Given the description of an element on the screen output the (x, y) to click on. 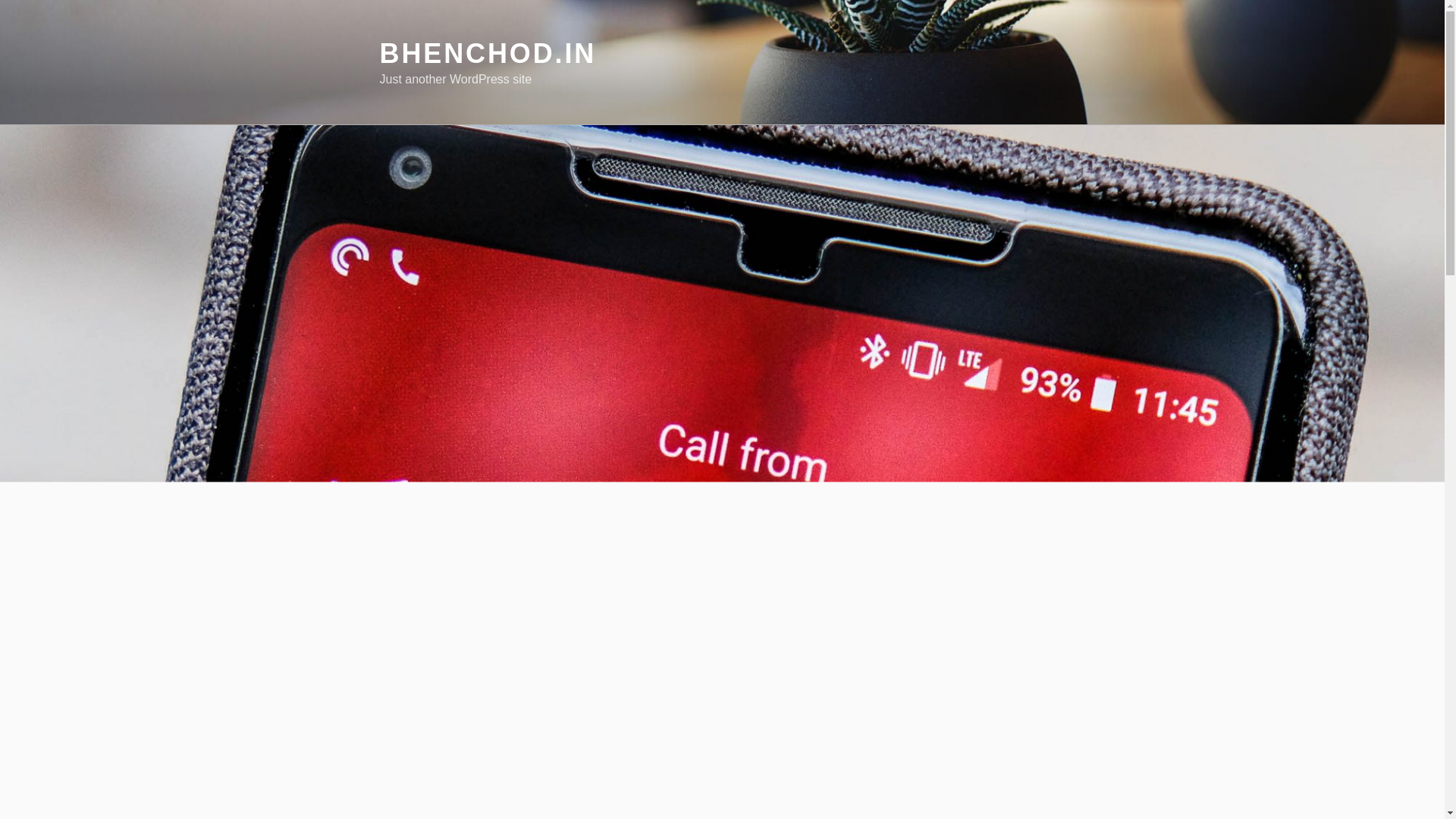
BHENCHOD.IN (486, 52)
